Given the description of an element on the screen output the (x, y) to click on. 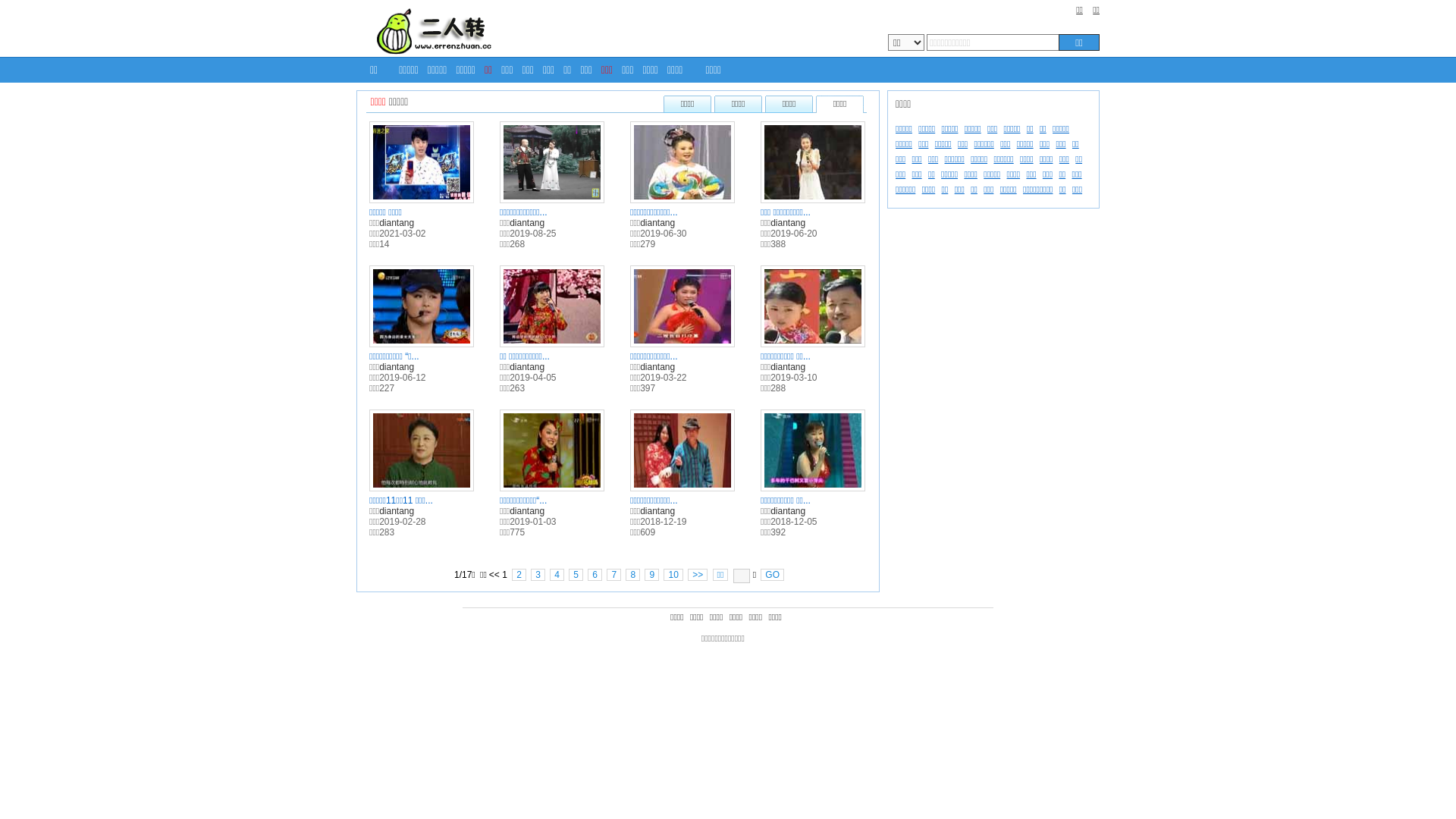
diantang Element type: text (787, 222)
diantang Element type: text (526, 366)
8 Element type: text (632, 574)
10 Element type: text (672, 574)
diantang Element type: text (657, 222)
diantang Element type: text (787, 366)
2 Element type: text (518, 574)
diantang Element type: text (657, 510)
GO Element type: text (772, 574)
3 Element type: text (537, 574)
6 Element type: text (594, 574)
diantang Element type: text (526, 510)
9 Element type: text (651, 574)
4 Element type: text (556, 574)
diantang Element type: text (396, 366)
5 Element type: text (575, 574)
diantang Element type: text (787, 510)
diantang Element type: text (396, 510)
>> Element type: text (697, 574)
diantang Element type: text (396, 222)
diantang Element type: text (657, 366)
diantang Element type: text (526, 222)
7 Element type: text (613, 574)
